Given the description of an element on the screen output the (x, y) to click on. 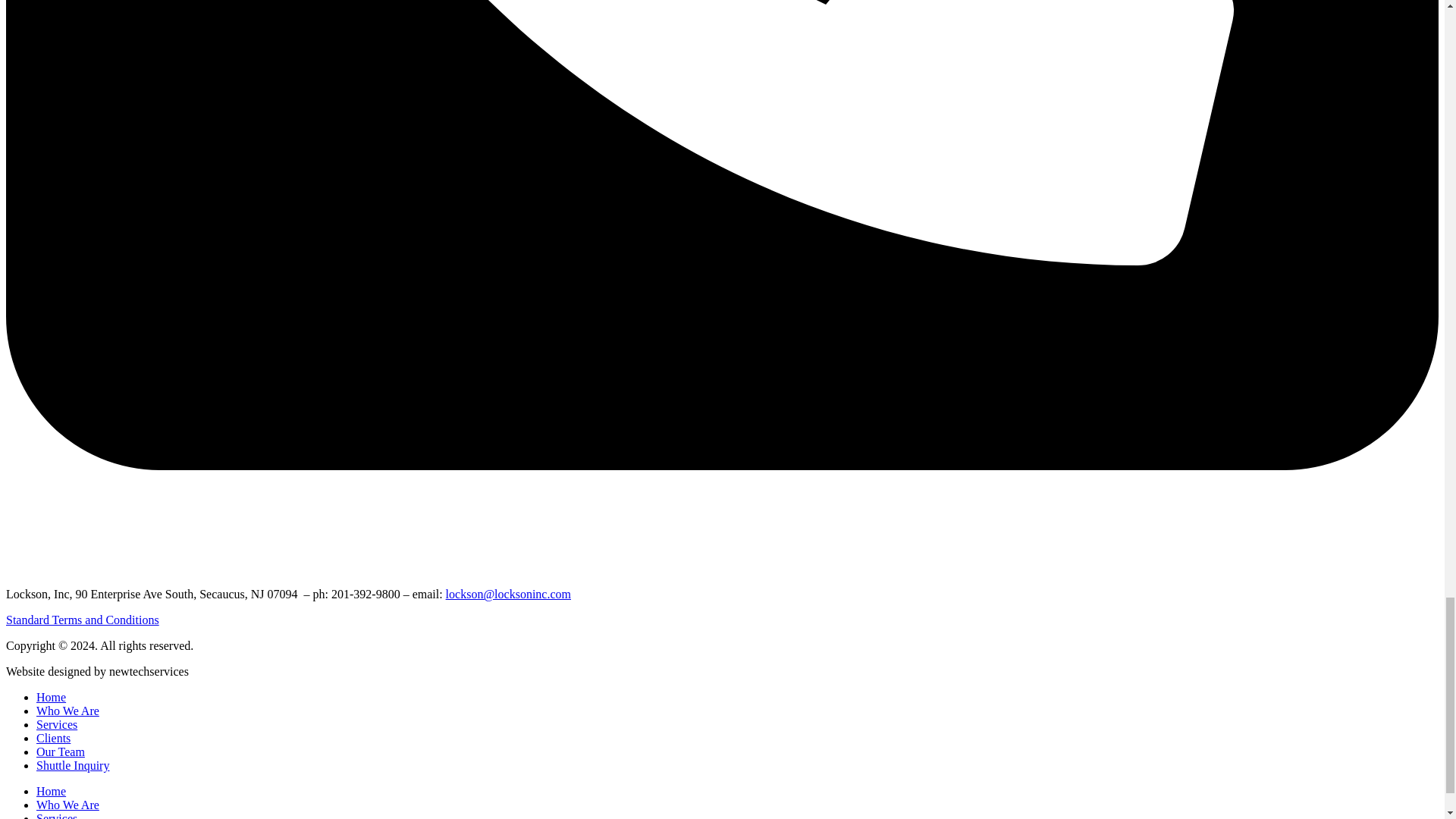
Clients (52, 738)
Our Team (60, 751)
Home (50, 697)
Shuttle Inquiry (72, 765)
Home (50, 790)
Services (56, 815)
Who We Are (67, 804)
Standard Terms and Conditions (81, 619)
Services (56, 724)
Who We Are (67, 710)
